Given the description of an element on the screen output the (x, y) to click on. 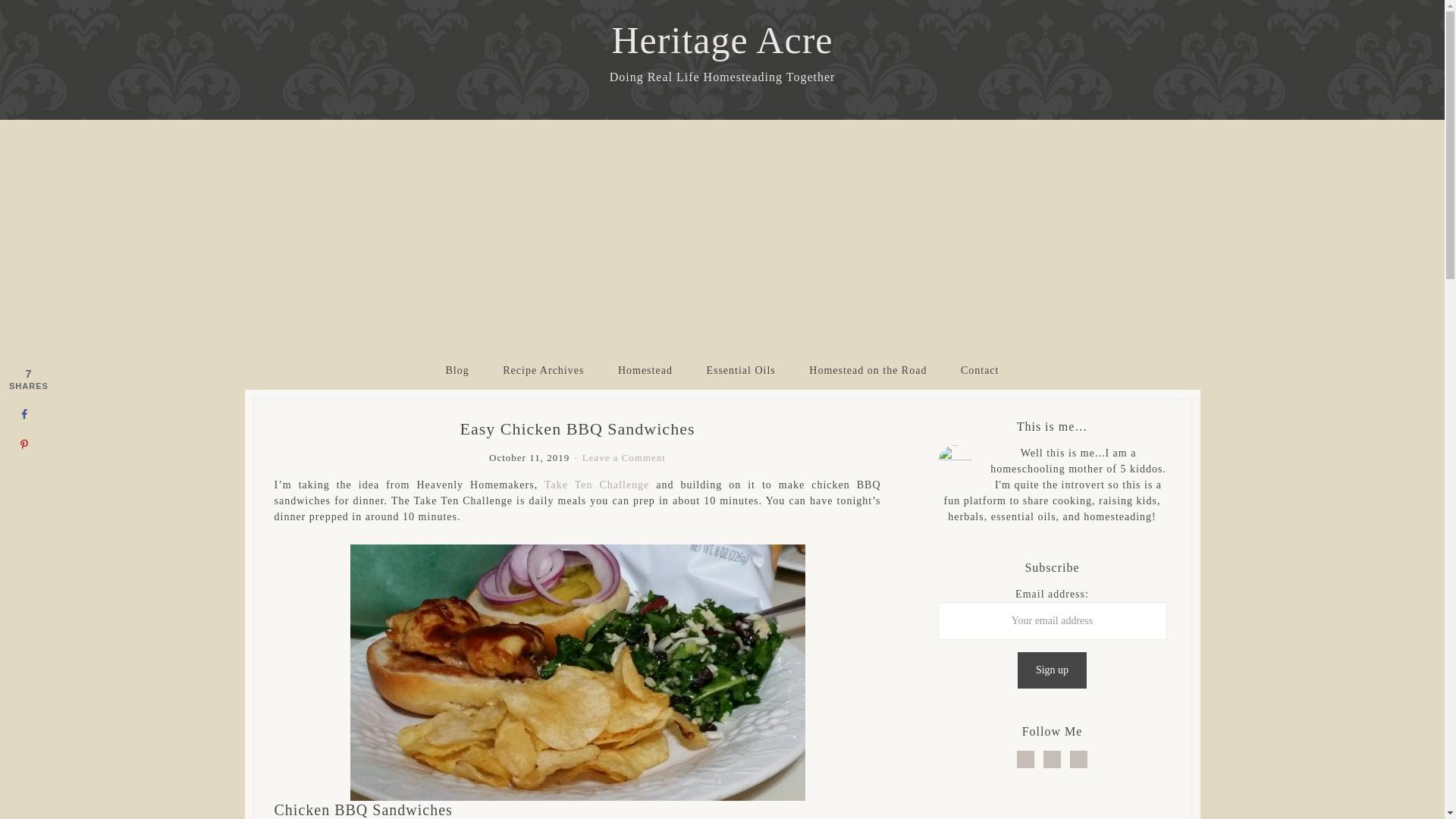
Leave a Comment (623, 457)
Recipe Archives (542, 369)
Sign up (1051, 669)
Share on Facebook (23, 413)
Contact (979, 369)
Homestead on the Road (867, 369)
Homestead (644, 369)
Take Ten Challenge (596, 484)
Essential Oils (740, 369)
Save to Pinterest (23, 444)
Blog (457, 369)
Heritage Acre (721, 39)
